Given the description of an element on the screen output the (x, y) to click on. 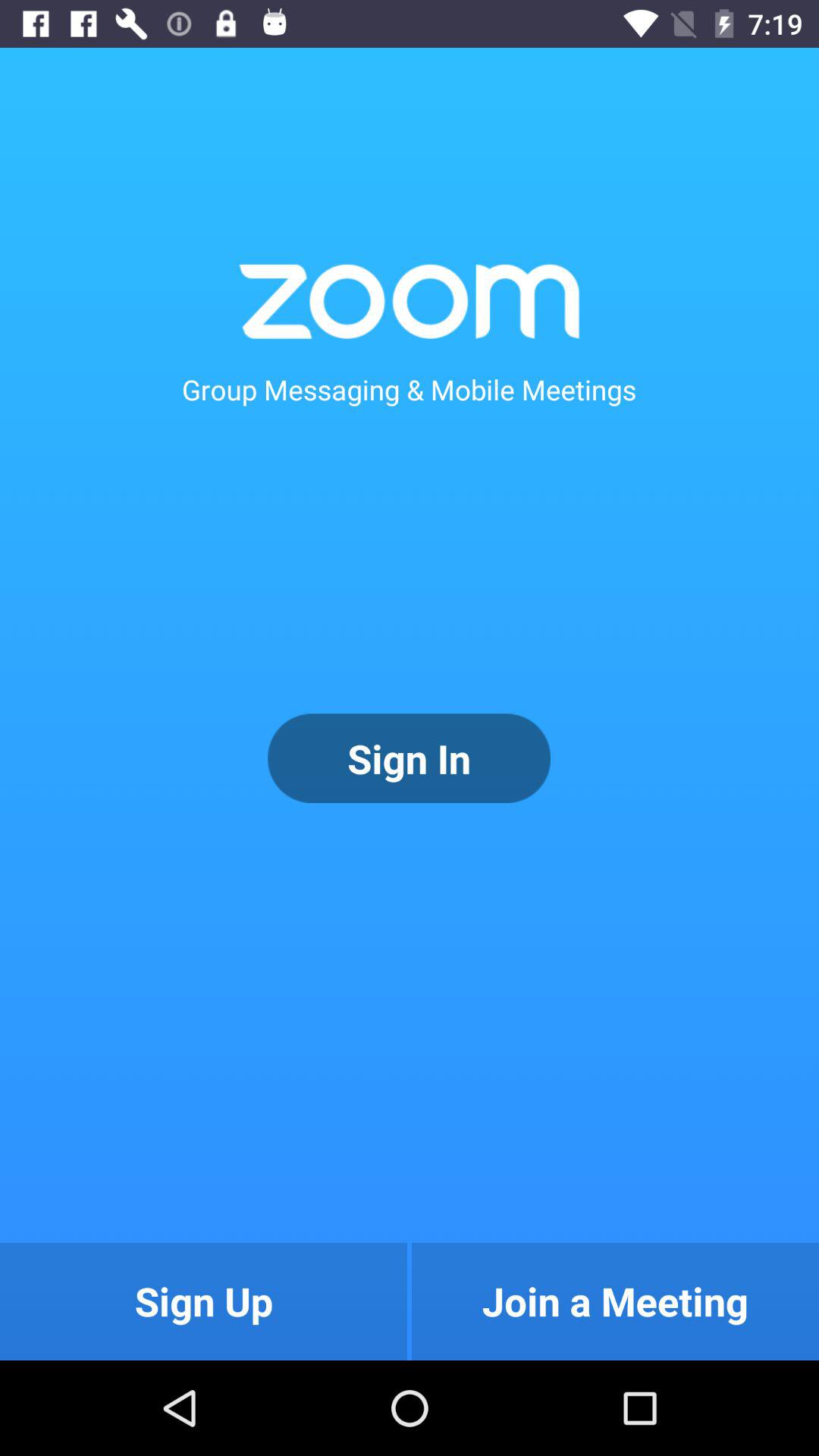
choose sign up icon (203, 1301)
